Given the description of an element on the screen output the (x, y) to click on. 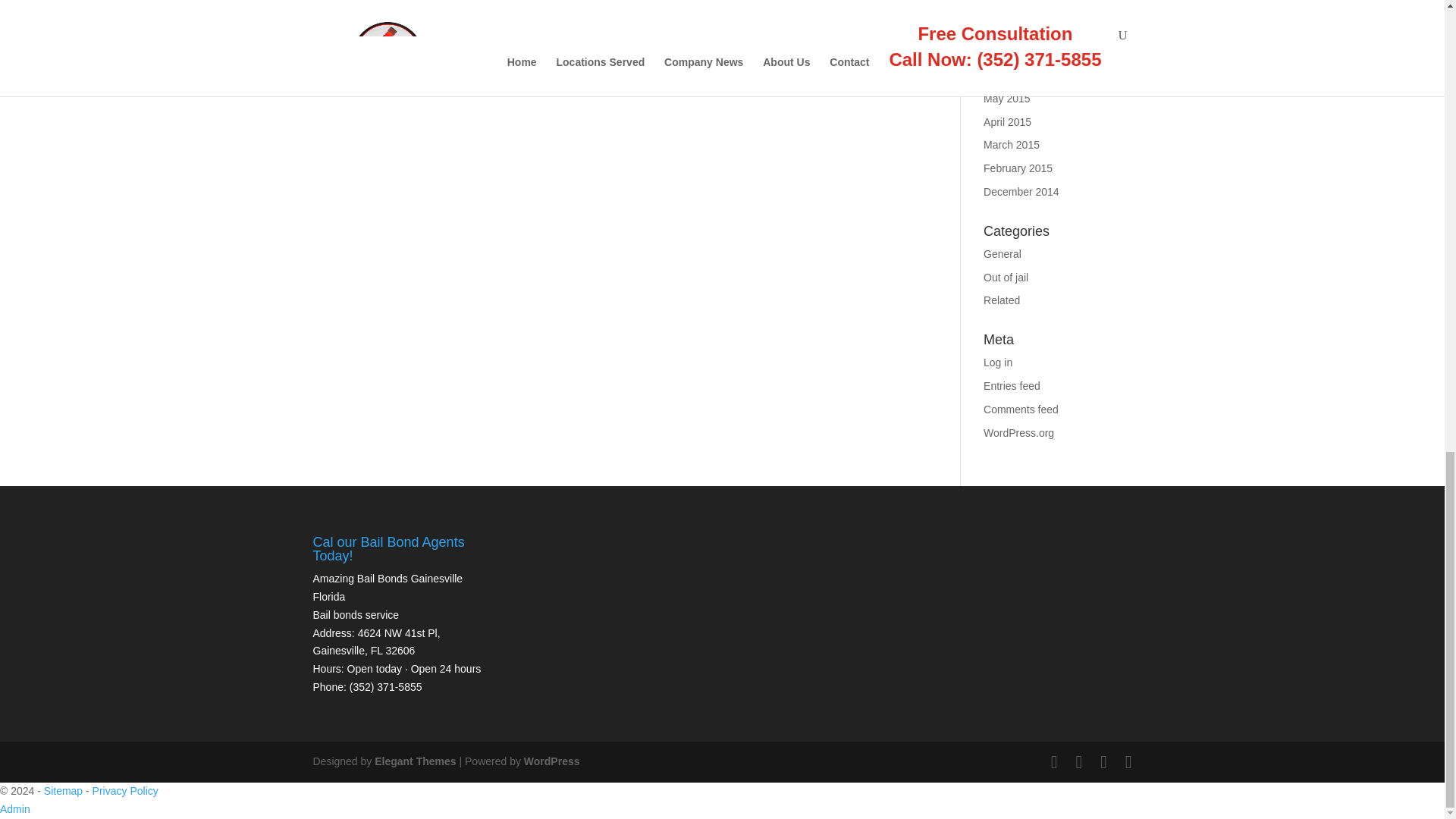
November 2015 (1021, 5)
Login (15, 808)
Premium WordPress Themes (414, 761)
August 2015 (1013, 74)
September 2015 (1023, 51)
October 2015 (1016, 28)
